Given the description of an element on the screen output the (x, y) to click on. 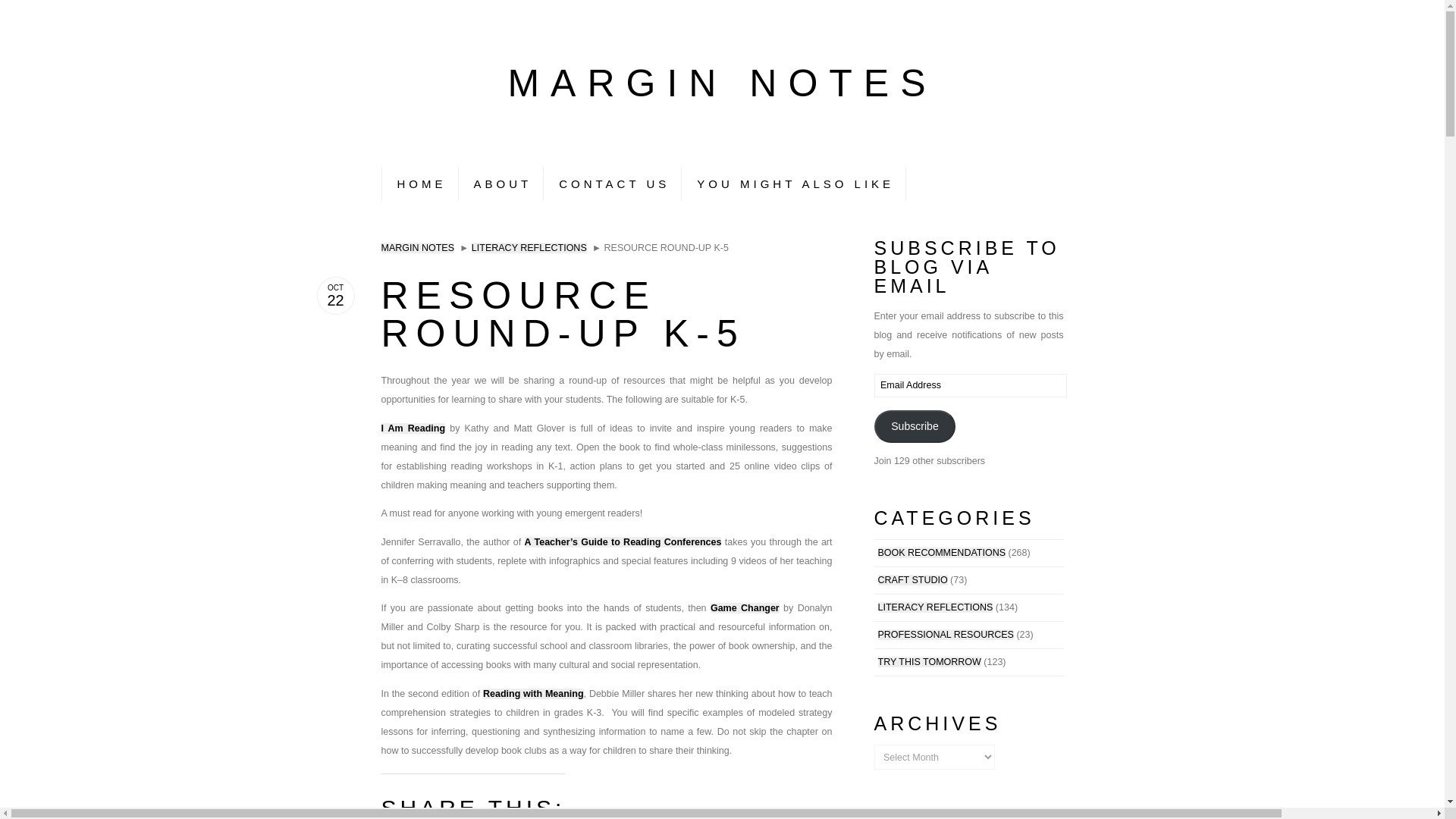
Game Changer (744, 607)
CONTACT US (612, 183)
MARGIN NOTES (721, 83)
PROFESSIONAL RESOURCES (945, 634)
LITERACY REFLECTIONS (934, 606)
LITERACY REFLECTIONS (528, 247)
TRY THIS TOMORROW (929, 661)
ABOUT (500, 183)
MARGIN NOTES (417, 247)
CRAFT STUDIO (912, 579)
YOU MIGHT ALSO LIKE (793, 183)
I Am Reading (412, 428)
BOOK RECOMMENDATIONS (941, 552)
Subscribe (914, 426)
Reading with Meaning (533, 693)
